Given the description of an element on the screen output the (x, y) to click on. 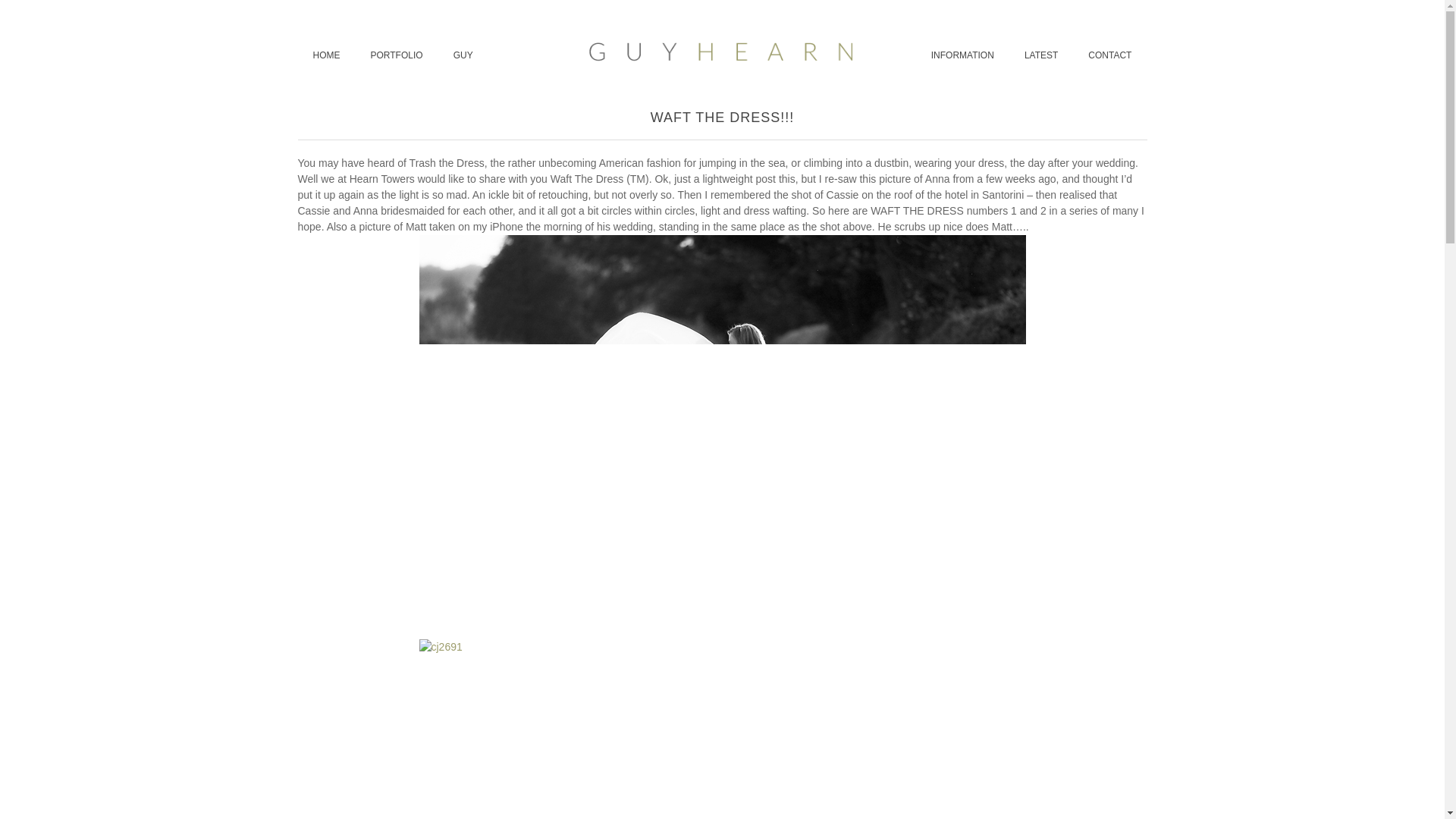
INFORMATION (962, 54)
GUY (462, 54)
HOME (326, 54)
LATEST (1041, 54)
CONTACT (1110, 54)
cj2691 (722, 729)
PORTFOLIO (396, 54)
